Given the description of an element on the screen output the (x, y) to click on. 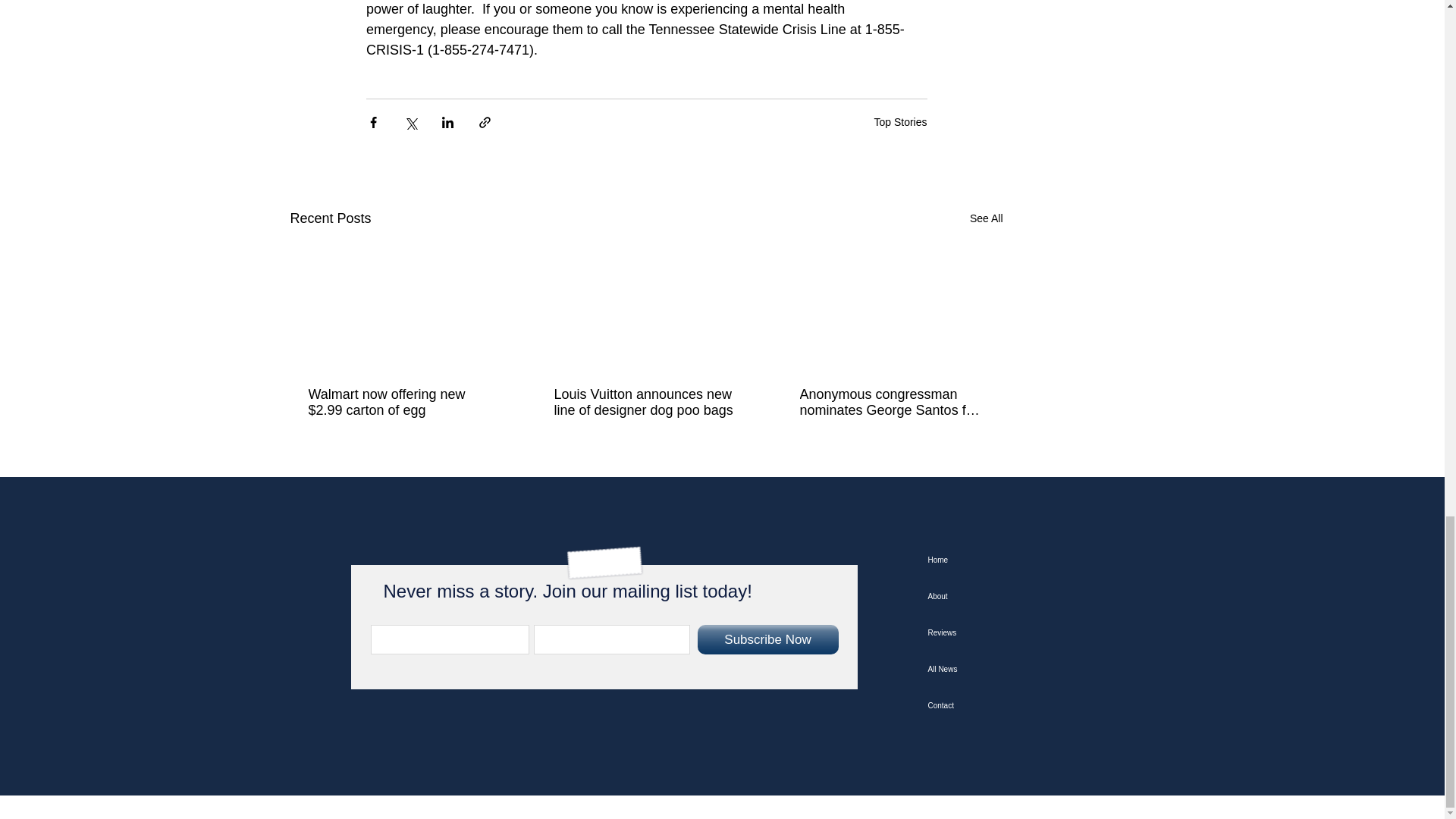
Top Stories (899, 121)
Subscribe Now (767, 639)
Louis Vuitton announces new line of designer dog poo bags (644, 402)
See All (986, 219)
Reviews (1002, 633)
About (1002, 596)
Contact (1002, 705)
Home (1002, 560)
All News (1002, 669)
